Given the description of an element on the screen output the (x, y) to click on. 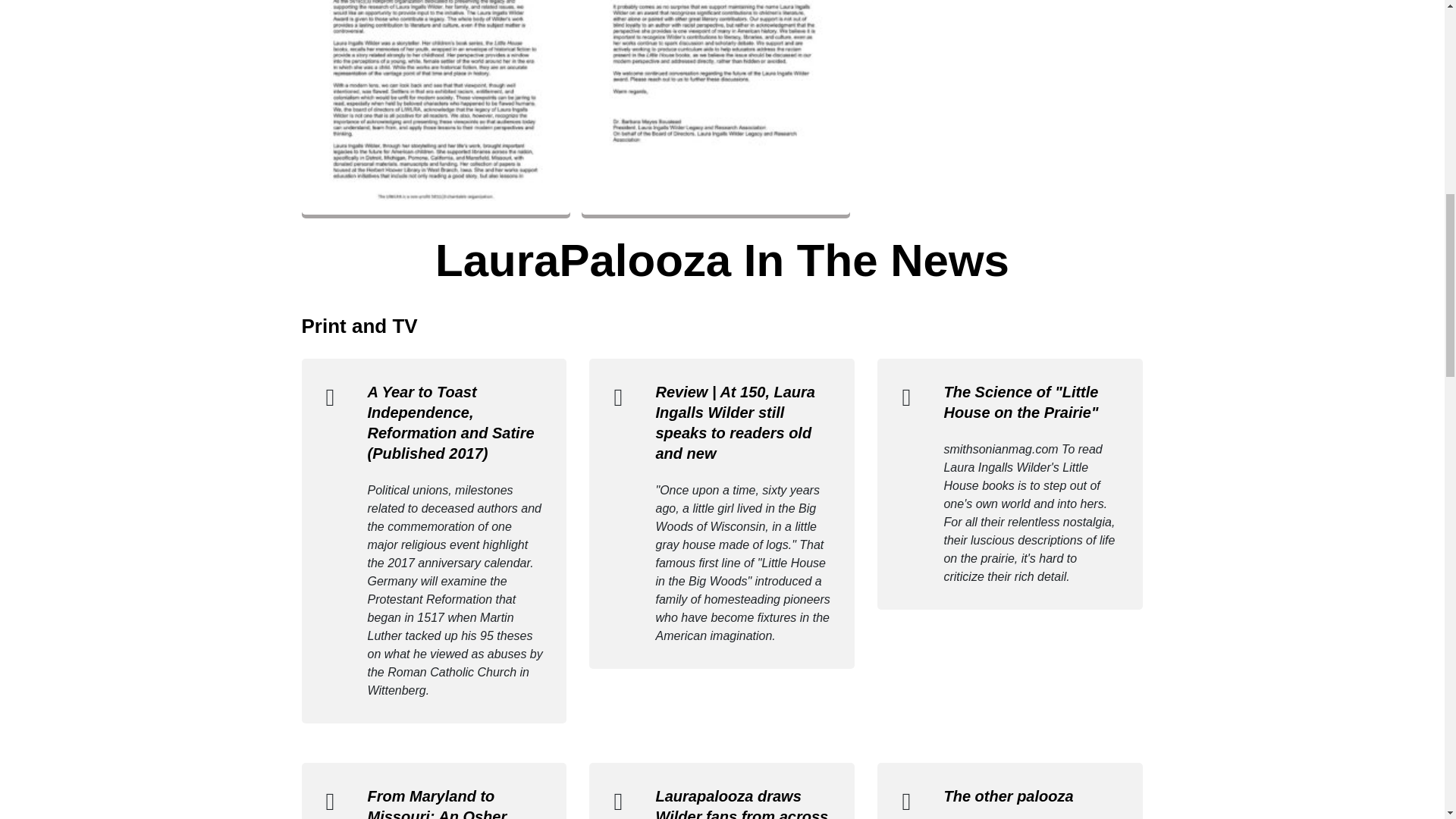
B74D7B8F-BC1A-49BF-B1EB-18E186BBC9E0 (714, 107)
6C296316-681D-49A5-8E39-F5AC236EF961 (435, 107)
6C296316-681D-49A5-8E39-F5AC236EF961 (435, 107)
B74D7B8F-BC1A-49BF-B1EB-18E186BBC9E0 (714, 107)
